Given the description of an element on the screen output the (x, y) to click on. 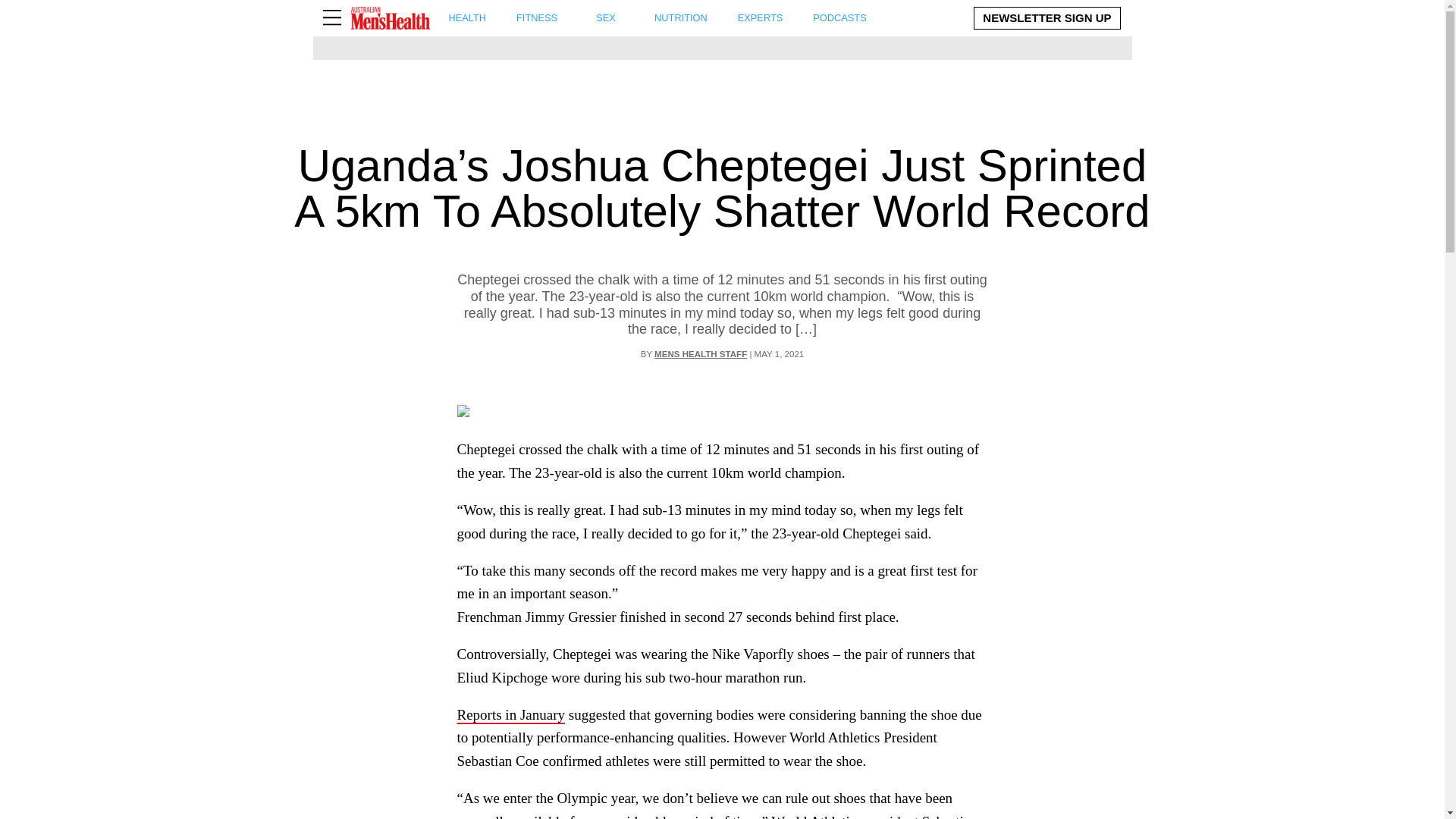
EXPERTS (760, 18)
FITNESS (536, 18)
SEX (606, 18)
HEALTH (657, 18)
NUTRITION (467, 18)
